Given the description of an element on the screen output the (x, y) to click on. 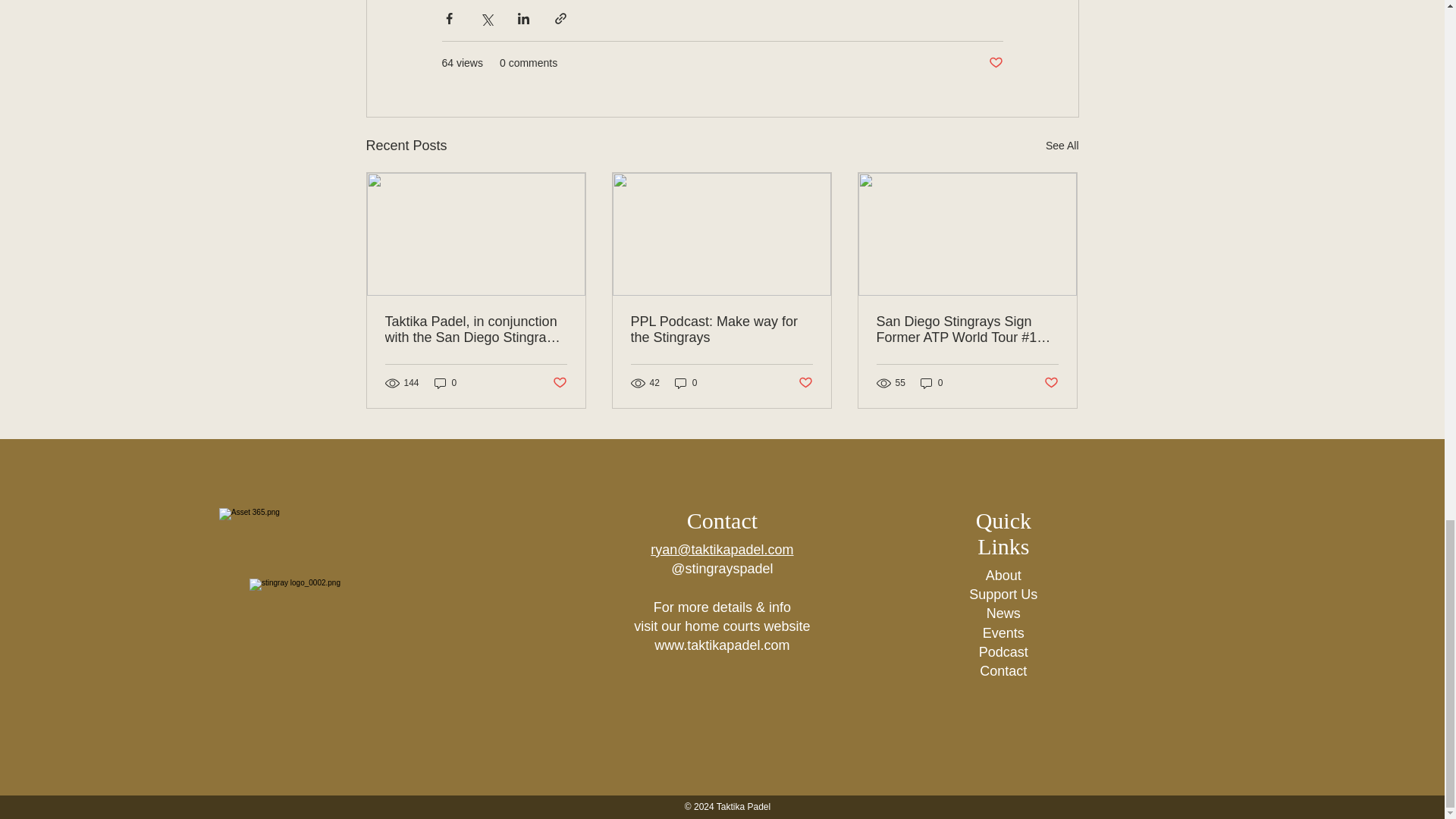
0 (685, 382)
0 (931, 382)
PPL Podcast: Make way for the Stingrays (721, 329)
Post not marked as liked (995, 63)
Post not marked as liked (558, 383)
Post not marked as liked (1050, 383)
0 (445, 382)
See All (1061, 146)
www.taktikapadel.com (721, 645)
